Given the description of an element on the screen output the (x, y) to click on. 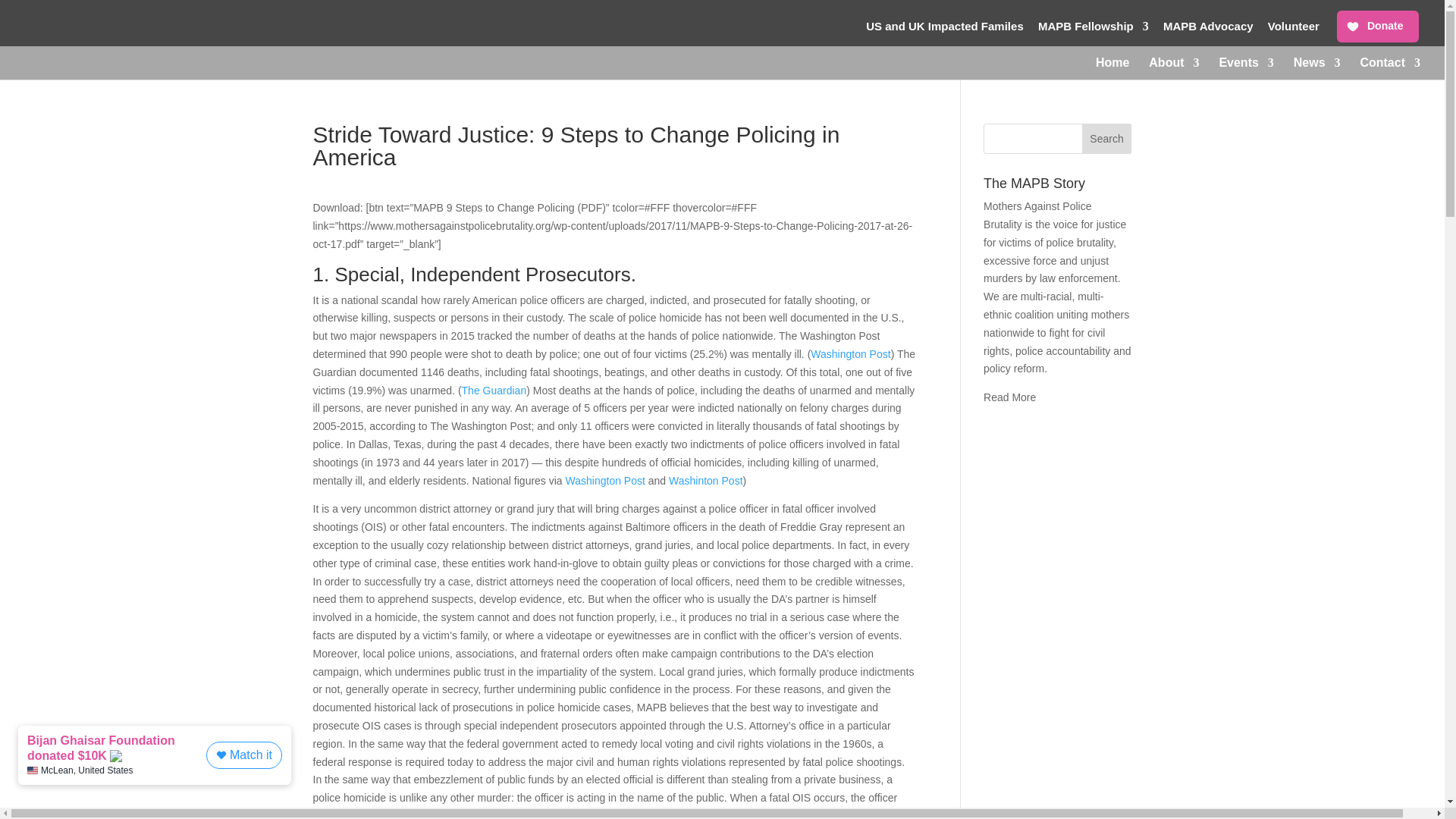
Donation Activity Popup (158, 762)
Donate Button (1377, 26)
Washinton Post (705, 480)
Contact (1390, 68)
Washington Post (605, 480)
MAPB Advocacy (1208, 30)
Washington Post (849, 354)
Volunteer (1293, 30)
Home (1112, 68)
News (1317, 68)
